Given the description of an element on the screen output the (x, y) to click on. 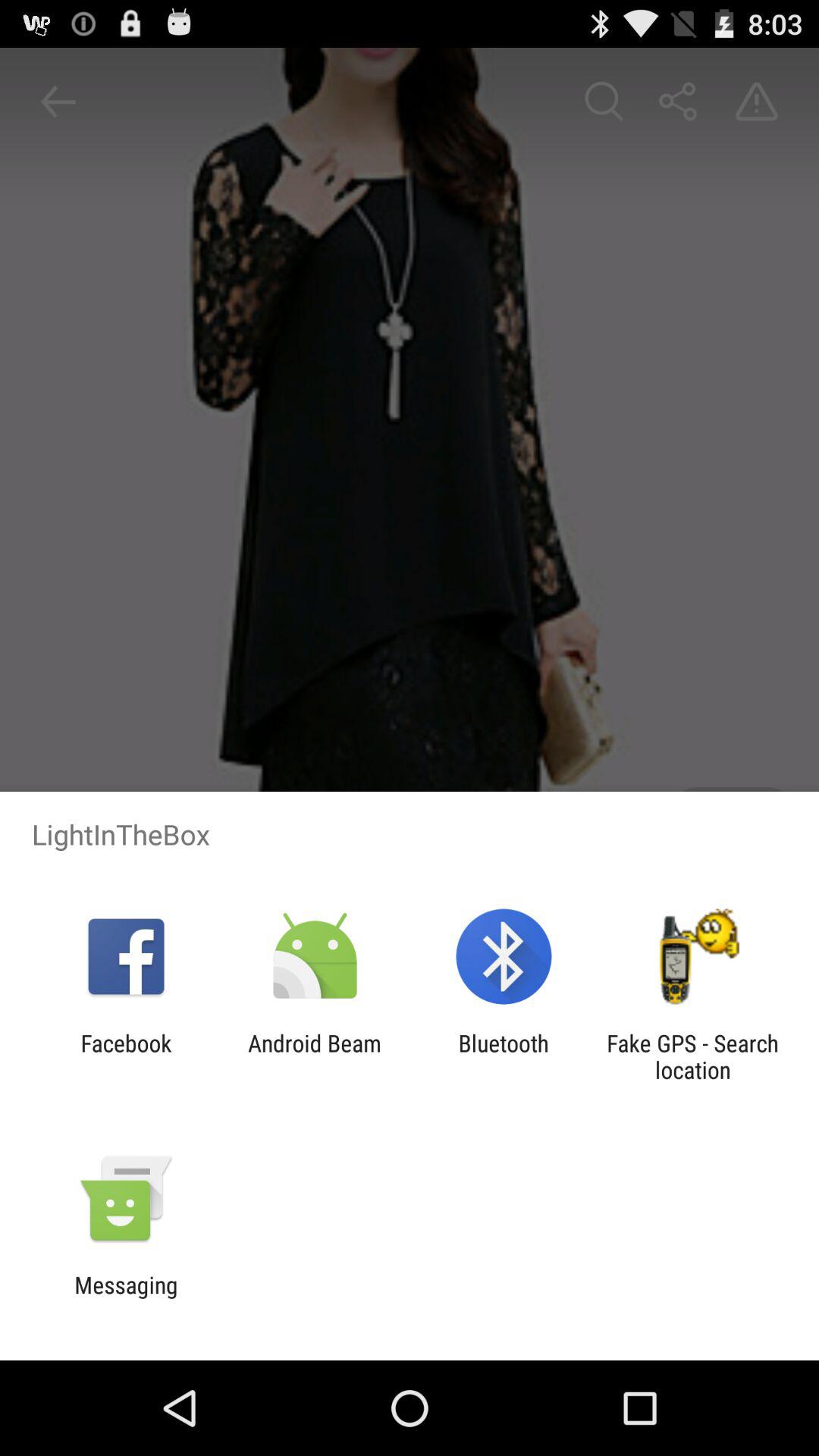
flip to the android beam (314, 1056)
